Given the description of an element on the screen output the (x, y) to click on. 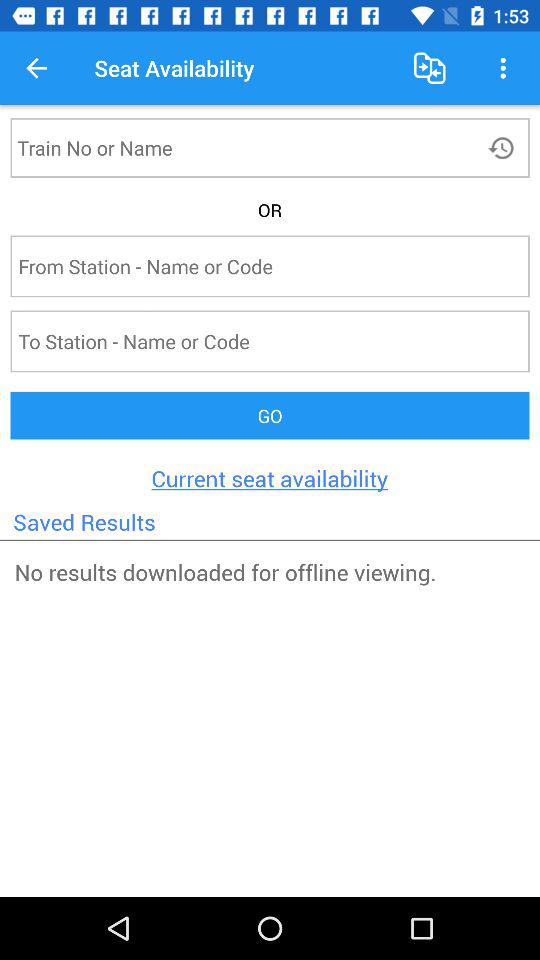
choose icon to the left of the seat availability (36, 68)
